Given the description of an element on the screen output the (x, y) to click on. 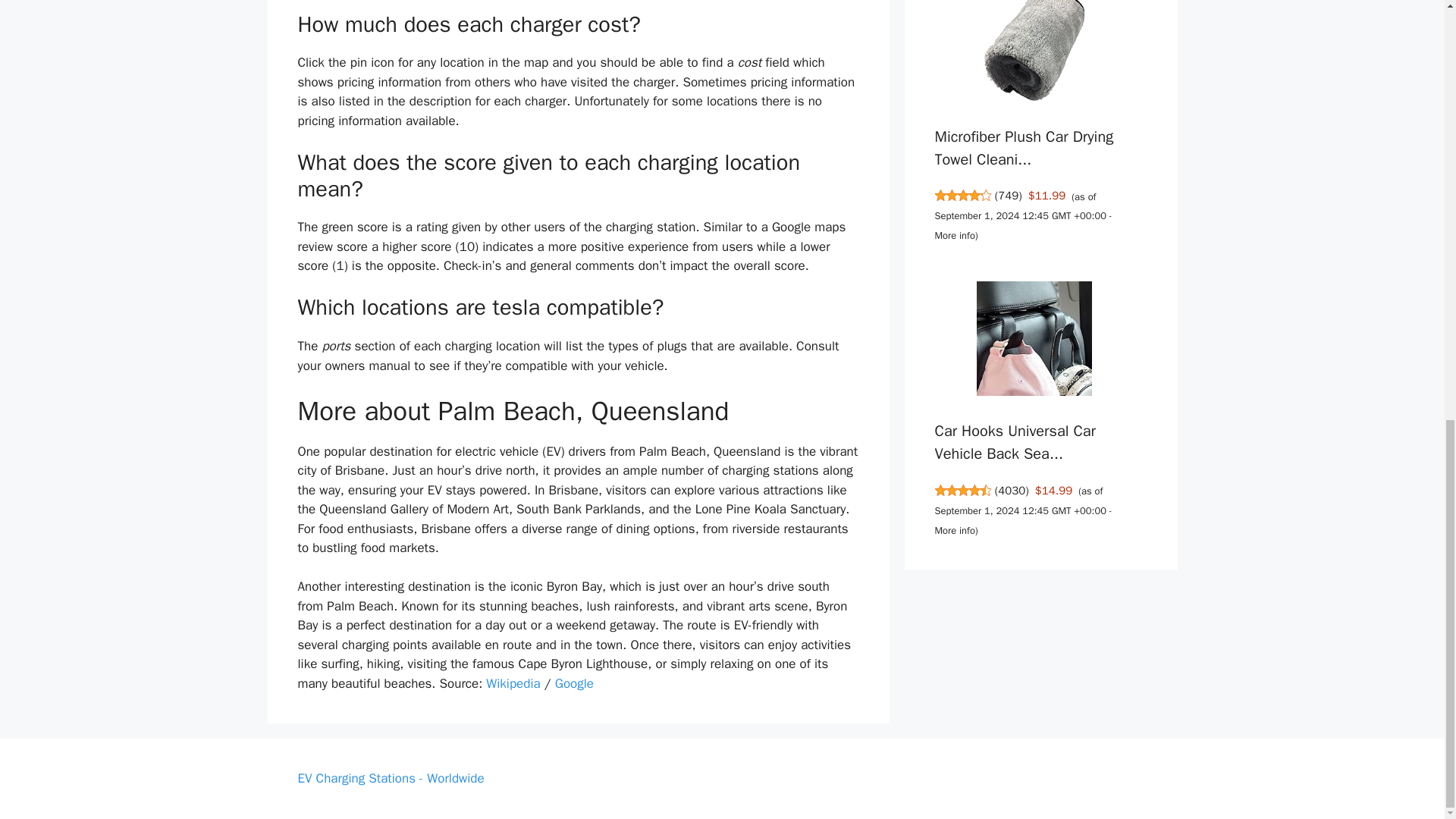
Car Hooks Universal Car Vehicle Back Sea...:  (1034, 340)
Car Hooks Universal Car Vehicle Back Sea...:  (1015, 442)
Microfiber Plush Car Drying Towel Cleani...:  (1034, 56)
Microfiber Plush Car Drying Towel Cleani...:  (1023, 147)
